Given the description of an element on the screen output the (x, y) to click on. 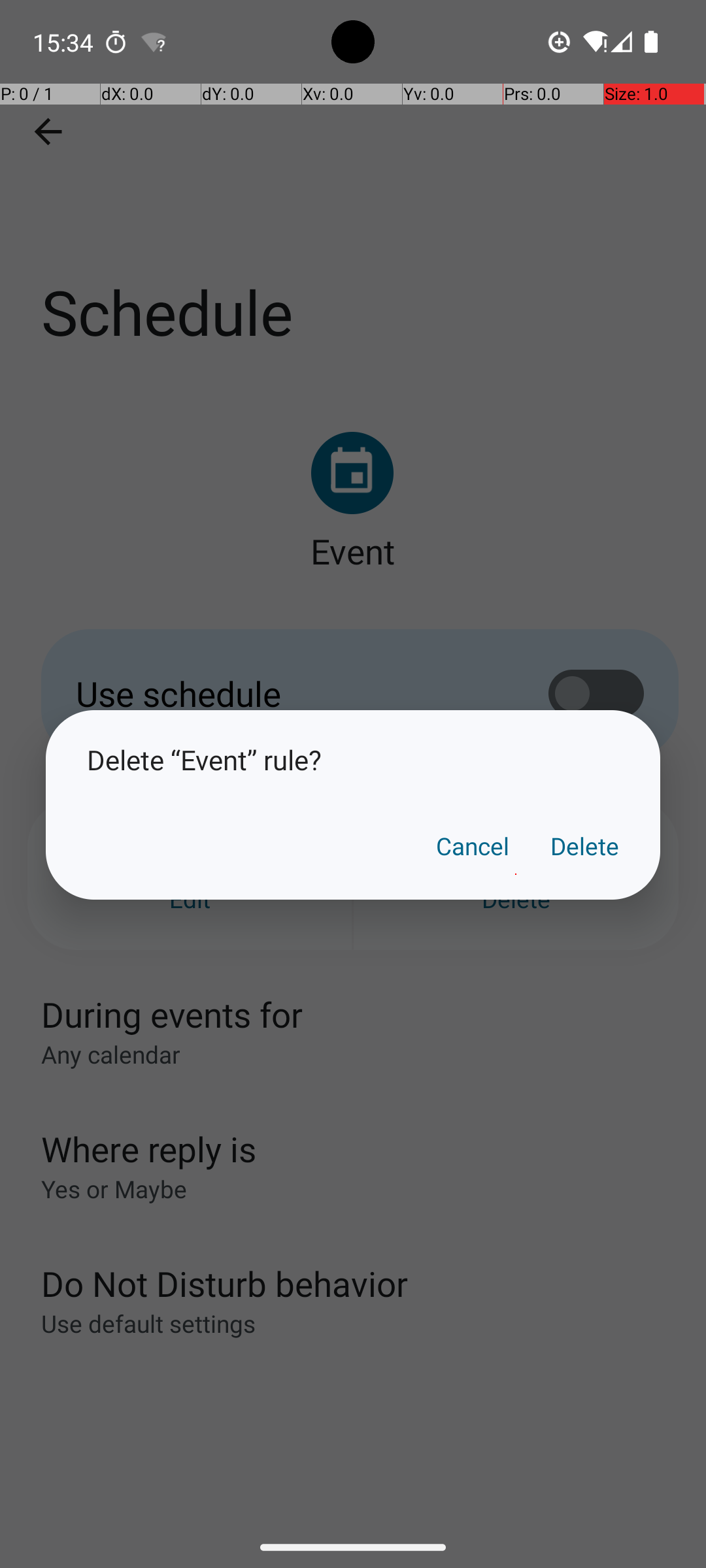
Delete “Event” rule? Element type: android.widget.TextView (352, 759)
